Given the description of an element on the screen output the (x, y) to click on. 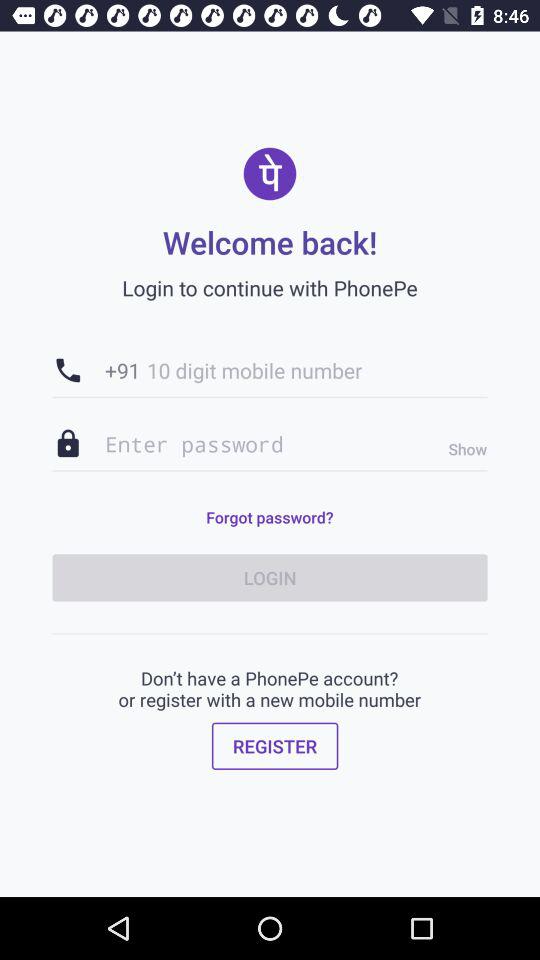
tap forgot password? item (269, 517)
